Given the description of an element on the screen output the (x, y) to click on. 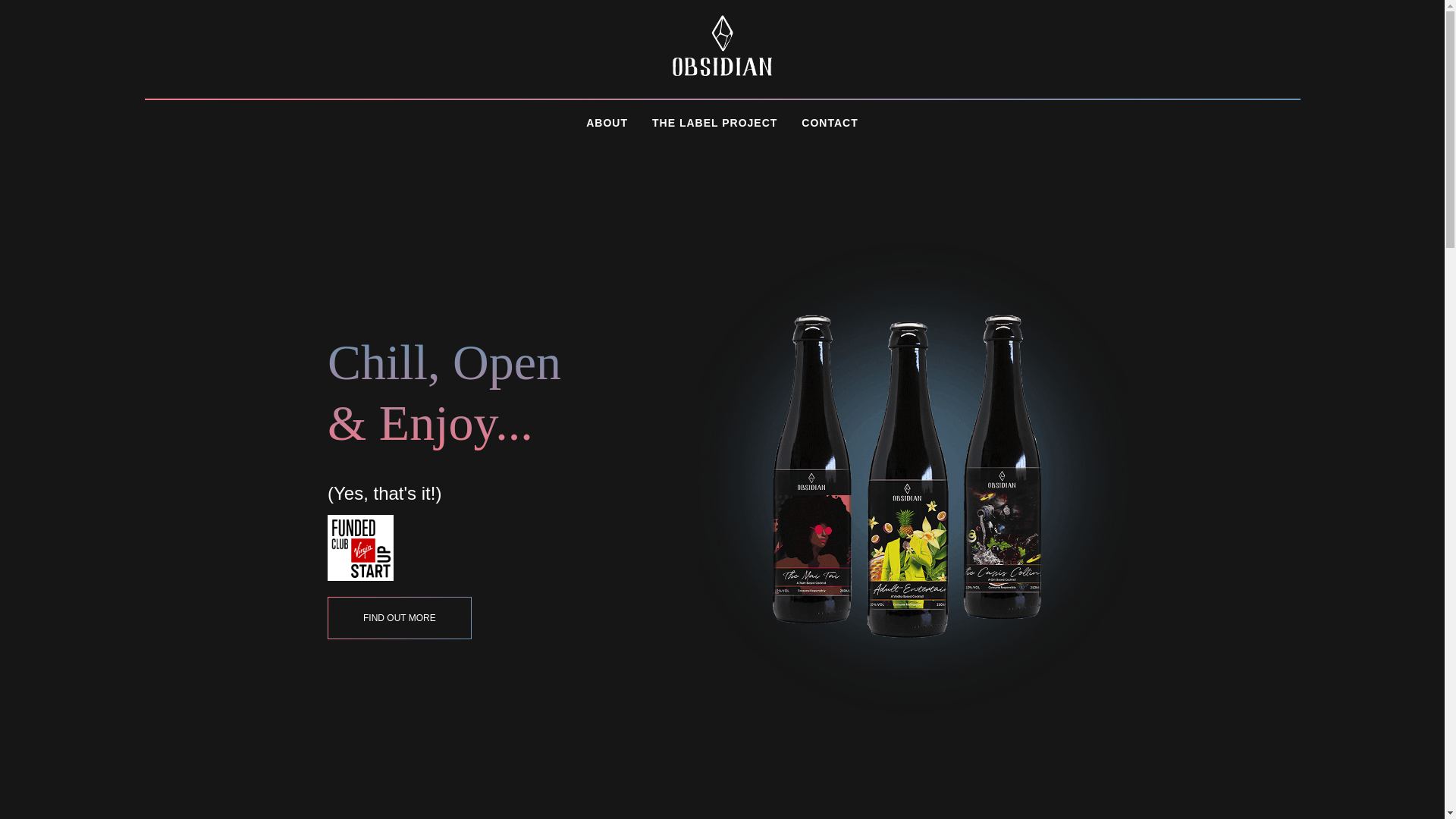
FIND OUT MORE (399, 618)
THE LABEL PROJECT (714, 122)
ABOUT (606, 122)
CONTACT (829, 122)
